Given the description of an element on the screen output the (x, y) to click on. 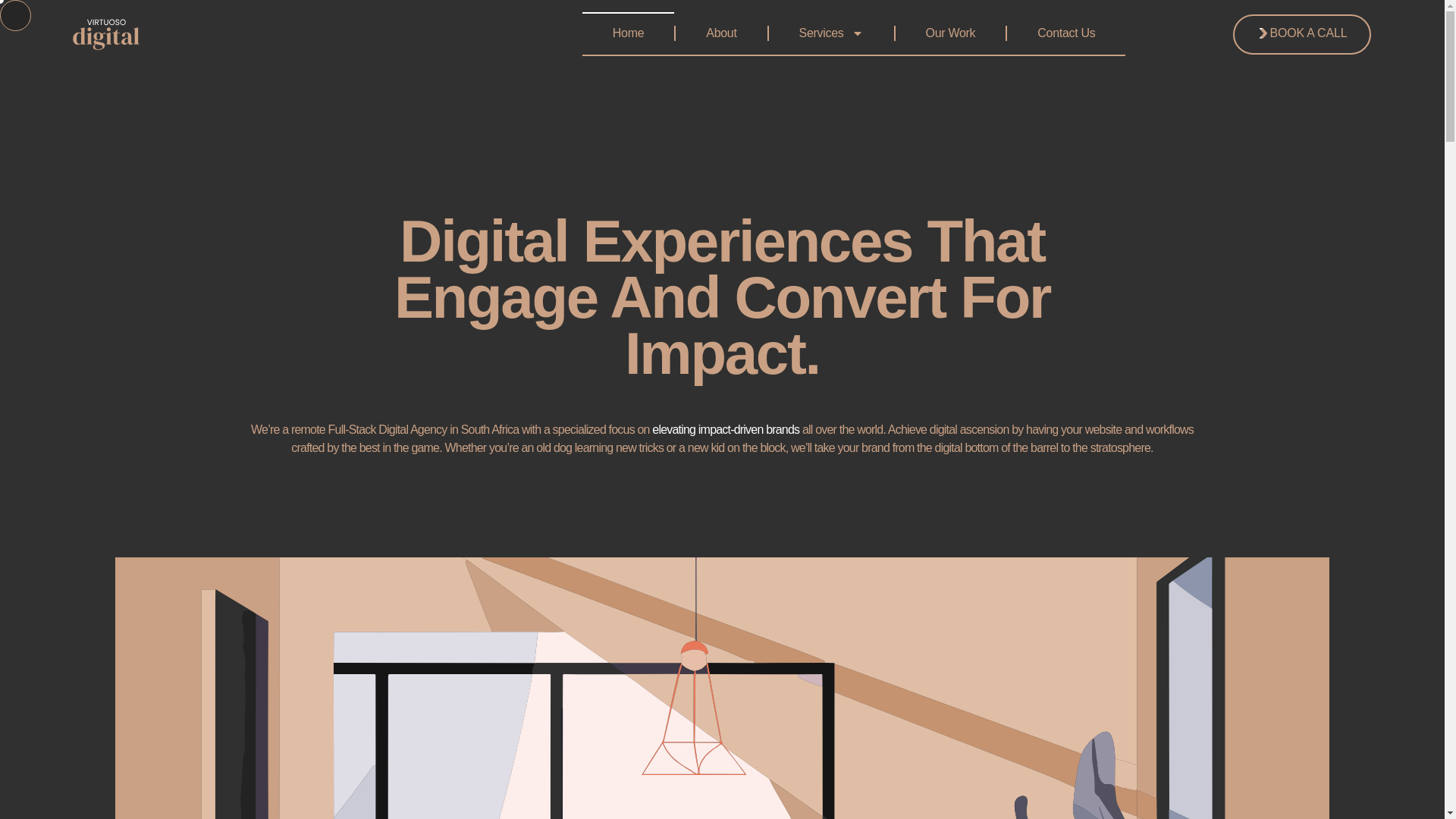
Services (830, 33)
About (721, 33)
Our Work (950, 33)
BOOK A CALL (1302, 33)
Home (628, 33)
Contact Us (1066, 33)
